Given the description of an element on the screen output the (x, y) to click on. 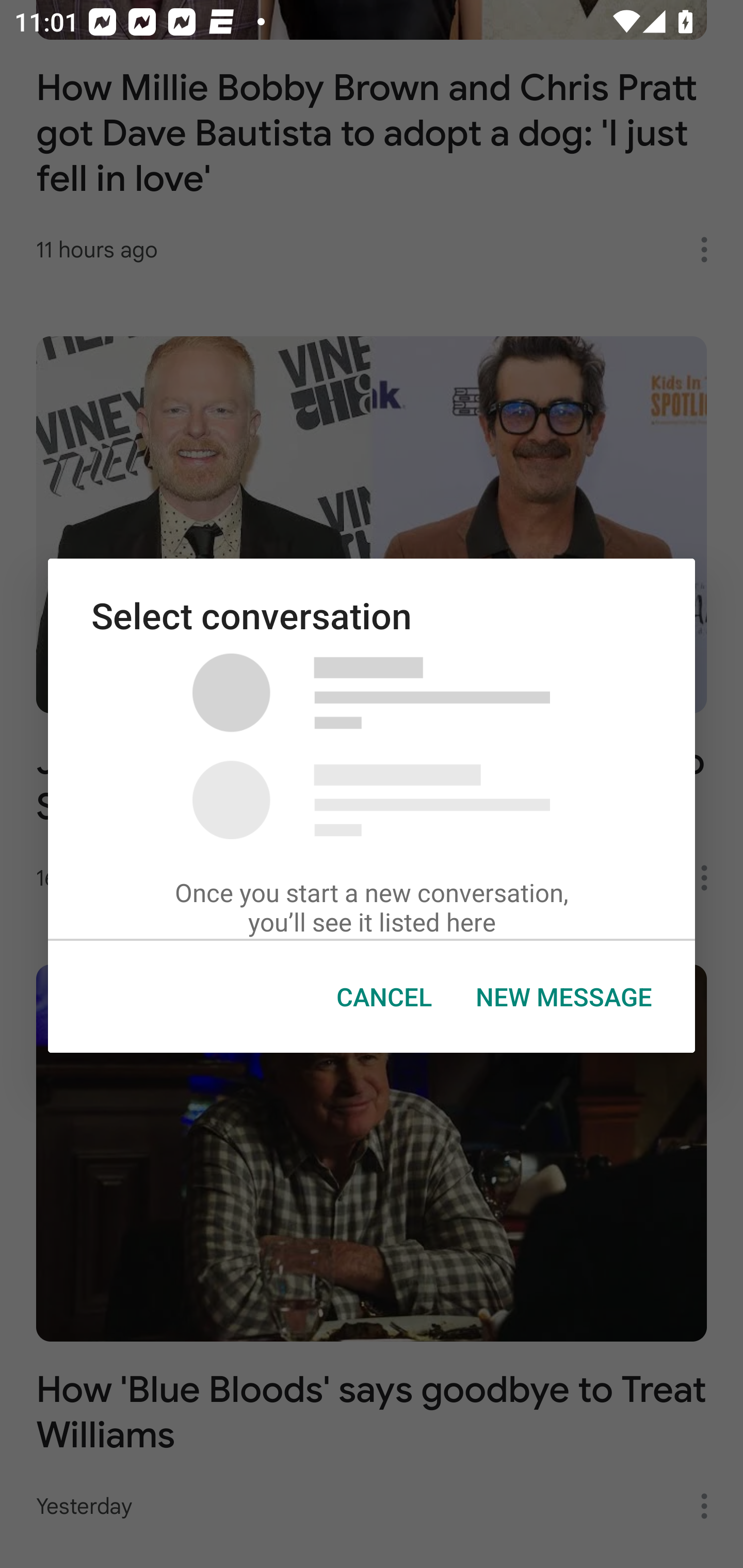
CANCEL (384, 996)
NEW MESSAGE (563, 996)
